Given the description of an element on the screen output the (x, y) to click on. 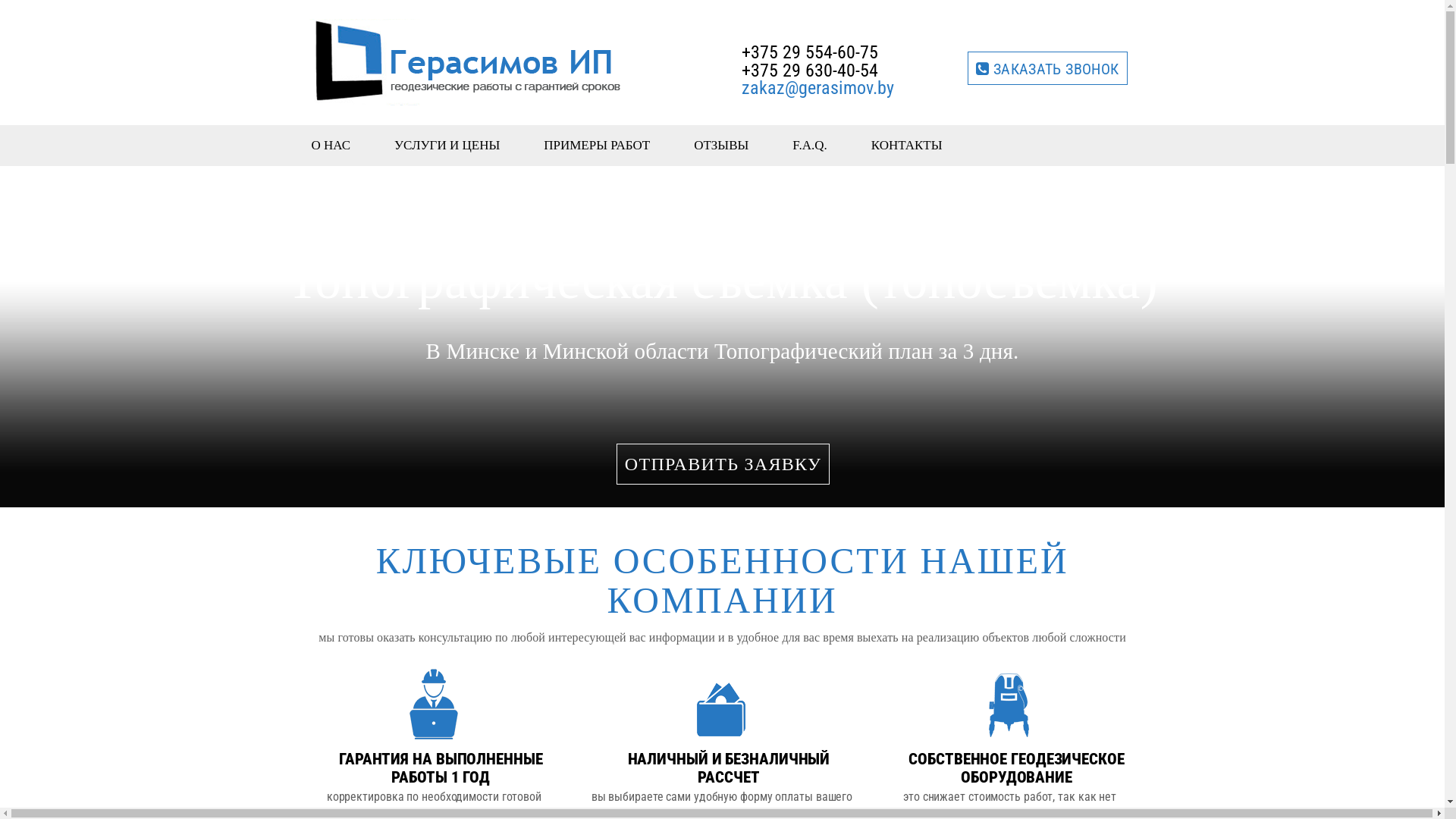
F.A.Q. Element type: text (810, 144)
zakaz@gerasimov.by Element type: text (832, 87)
+375 29 554-60-75 Element type: text (809, 51)
+375 29 630-40-54 Element type: text (809, 70)
